Given the description of an element on the screen output the (x, y) to click on. 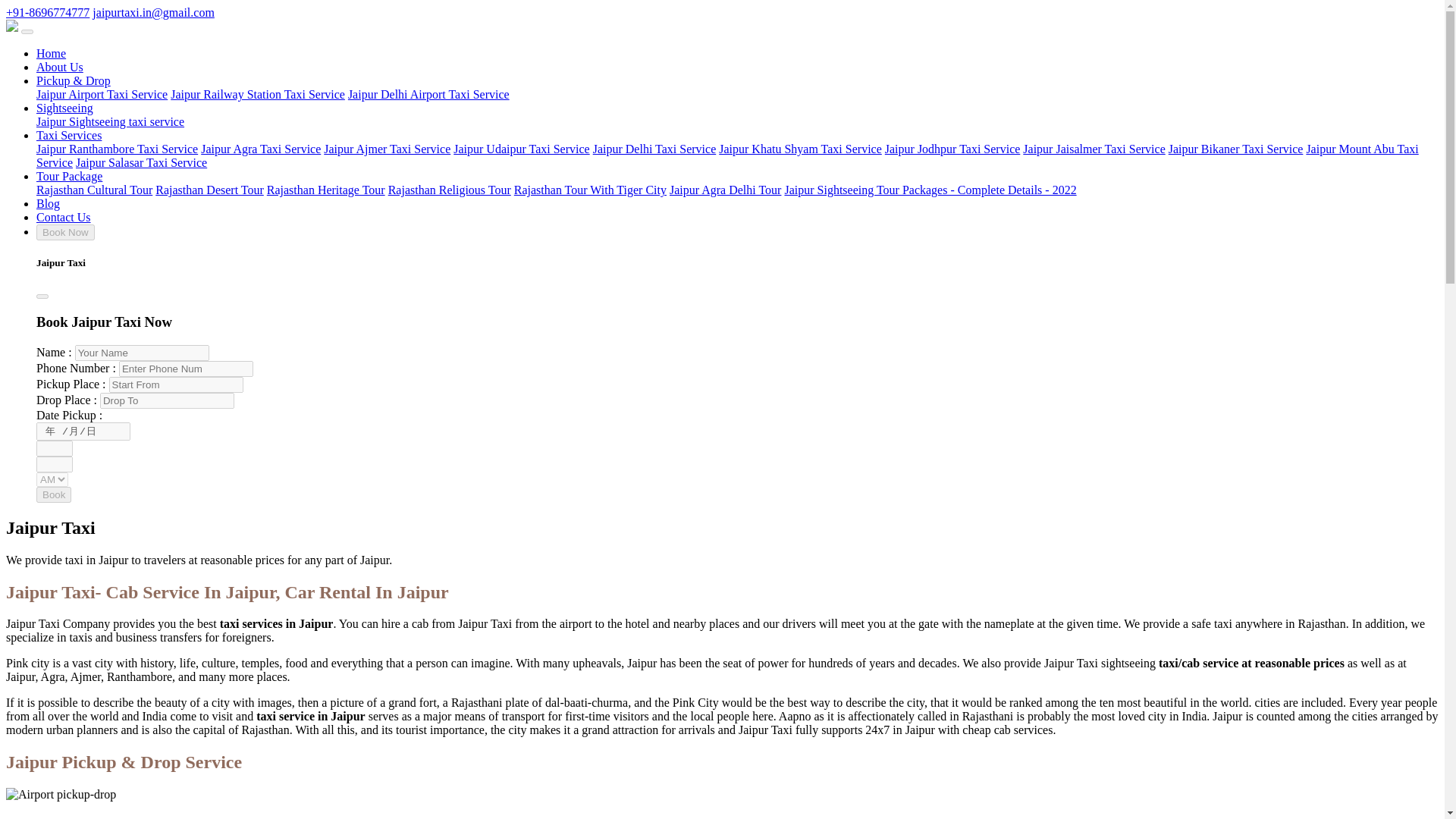
Jaipur Delhi Airport Taxi Service (428, 93)
Rajasthan Cultural Tour (94, 189)
submit (53, 494)
Blog (47, 203)
Jaipur Khatu Shyam Taxi Service (800, 148)
Rajasthan Desert Tour (209, 189)
Helpline Number (46, 11)
Jaipur Agra Delhi Tour (724, 189)
Jaipur Sightseeing Tour Packages - Complete Details - 2022 (929, 189)
Jaipur Jaisalmer Taxi Service (1093, 148)
